Given the description of an element on the screen output the (x, y) to click on. 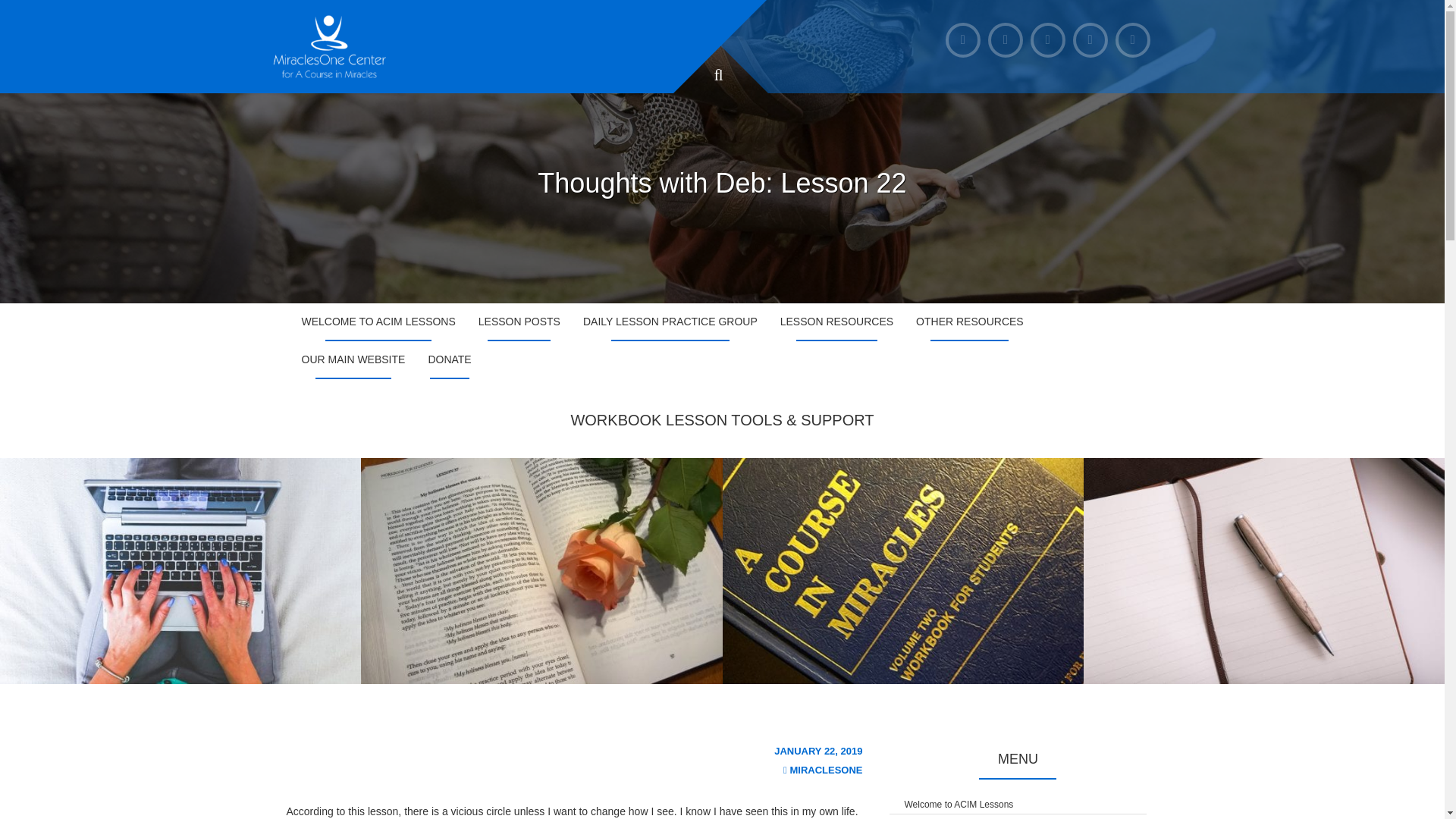
Resource: Accessing Resources for Daily Lessons (180, 570)
Online ACIM Self-Study Courses (541, 570)
Resource: What Workbook Support Do You Need? (902, 570)
Click to open! (1017, 816)
